Given the description of an element on the screen output the (x, y) to click on. 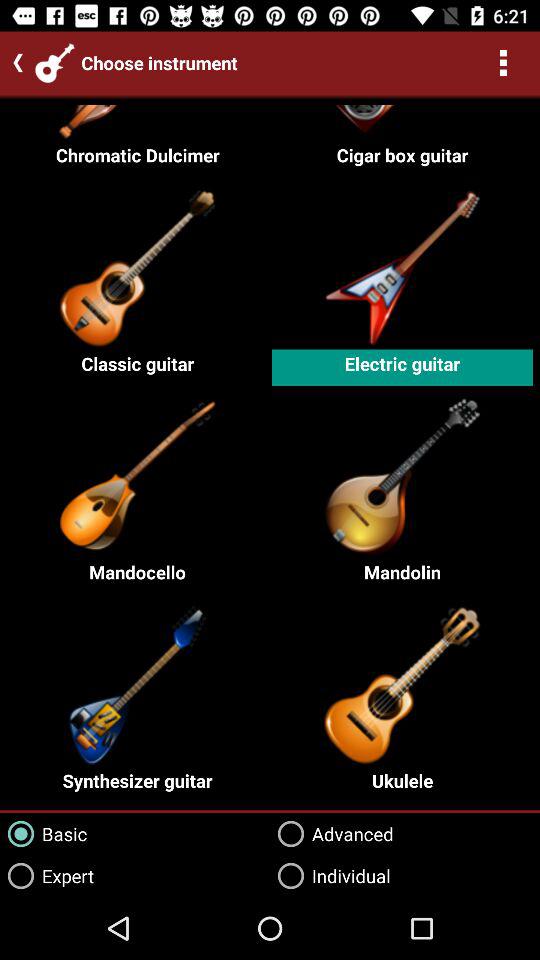
turn off icon next to the expert icon (330, 875)
